Given the description of an element on the screen output the (x, y) to click on. 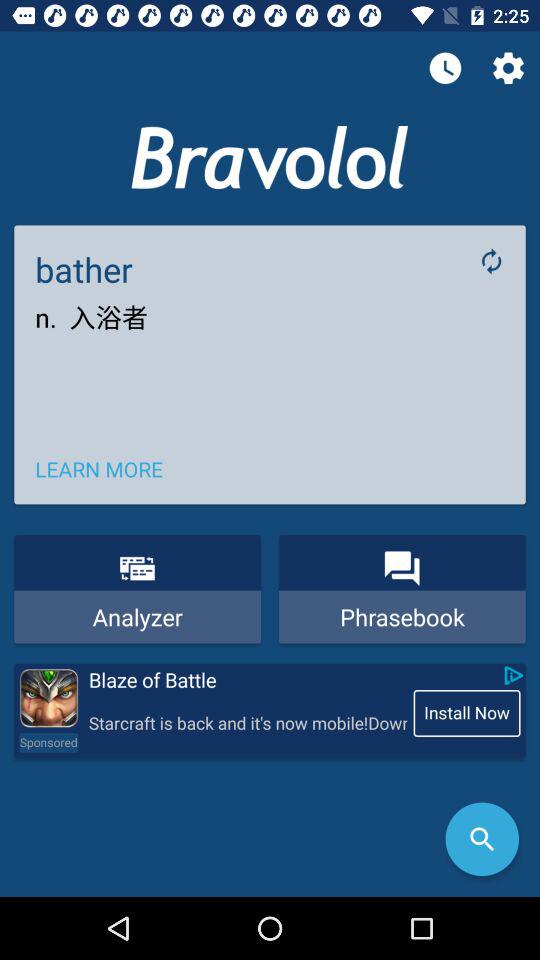
launch icon below the install now item (482, 839)
